Given the description of an element on the screen output the (x, y) to click on. 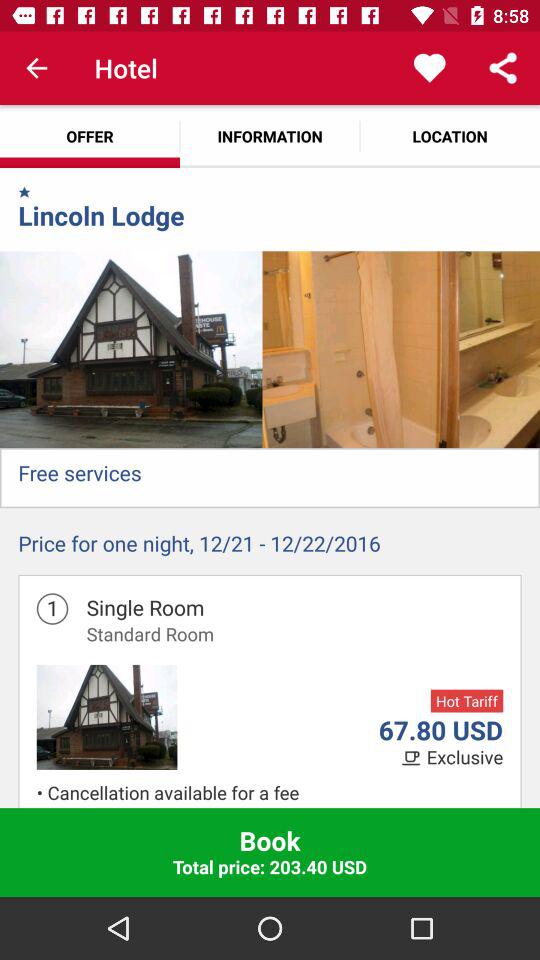
turn on the icon below the single room (150, 633)
